Given the description of an element on the screen output the (x, y) to click on. 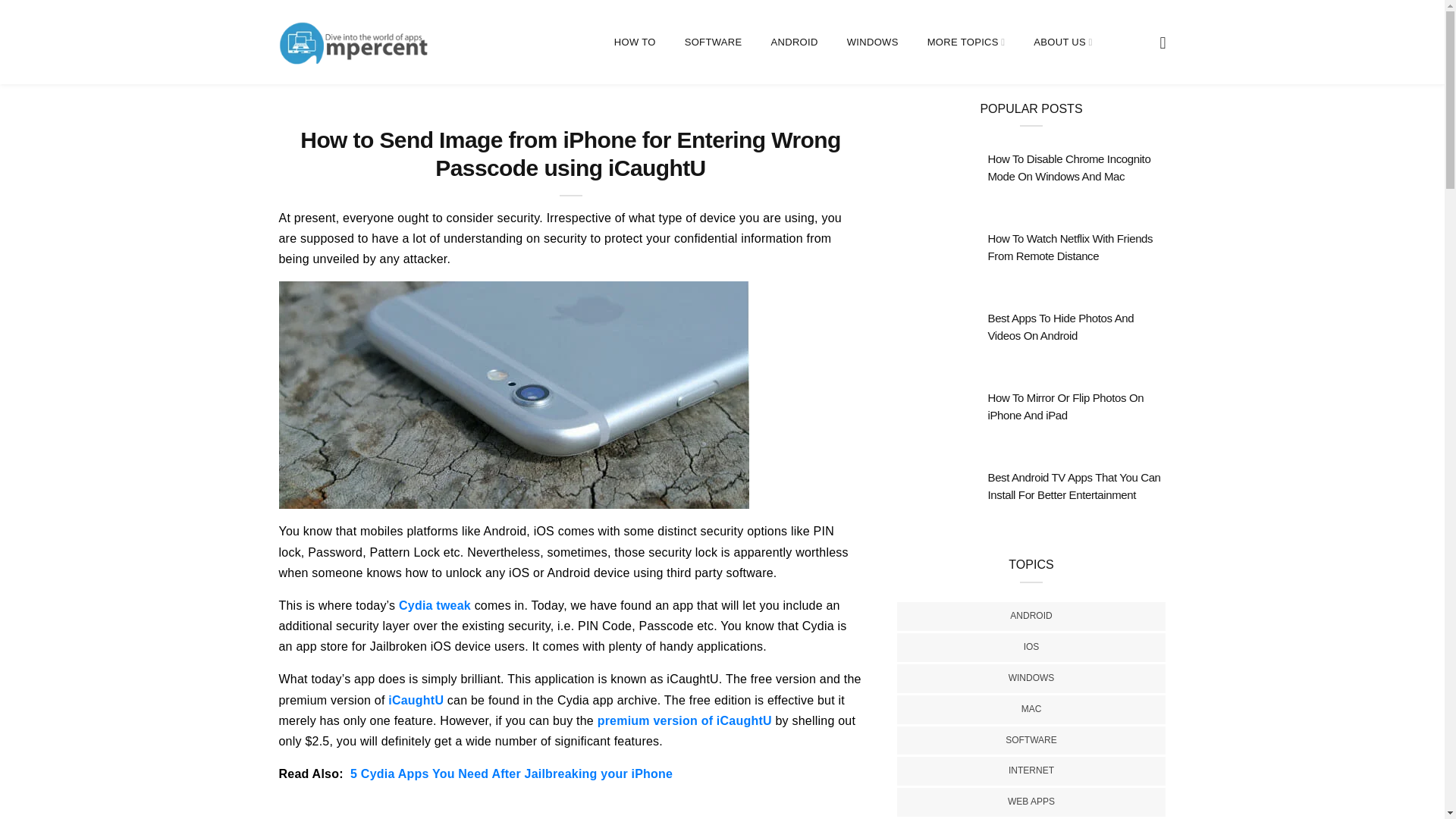
premium version of iCaughtU (683, 720)
SOFTWARE (713, 42)
5 Cydia Apps You Need After Jailbreaking your iPhone (511, 773)
HOW TO (635, 42)
5 Cydia Apps You Need After Jailbreaking your iPhone (511, 773)
About Us (966, 42)
Cydia tweak (434, 604)
ABOUT US (1062, 42)
WINDOWS (872, 42)
ANDROID (793, 42)
MORE TOPICS (966, 42)
iCaughtU (416, 699)
